Given the description of an element on the screen output the (x, y) to click on. 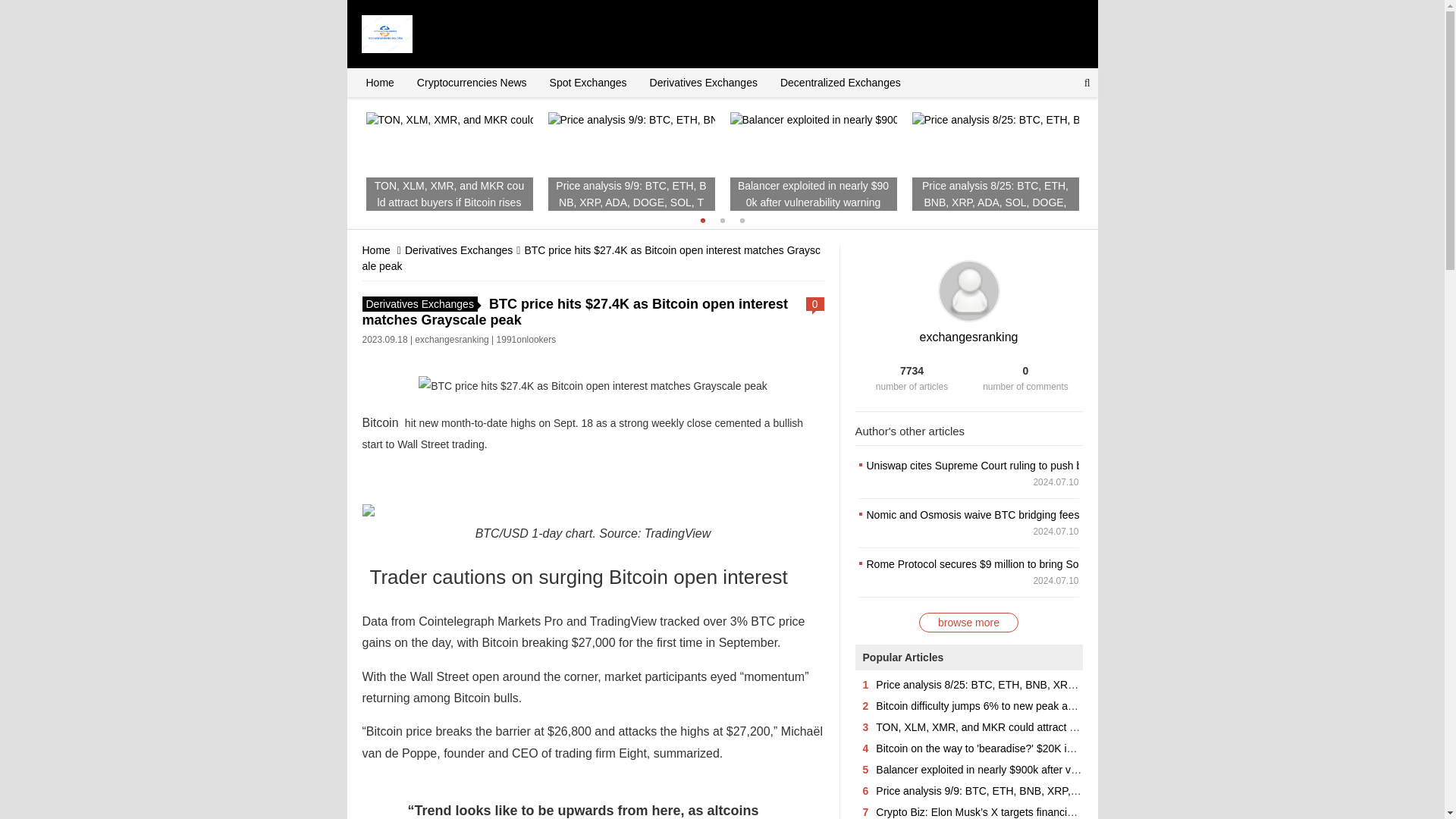
Spot Exchanges (587, 82)
Decentralized Exchanges (840, 82)
Derivatives Exchanges (458, 250)
Home (376, 250)
exchangesranking (450, 339)
Cryptocurrencies News (471, 82)
Derivatives Exchanges (419, 304)
Decentralized Exchanges (840, 82)
Derivatives Exchanges (458, 250)
Spot Exchanges (587, 82)
Derivatives Exchanges (703, 82)
exchangesranking (968, 336)
Home (379, 82)
Cryptocurrencies News (471, 82)
